Given the description of an element on the screen output the (x, y) to click on. 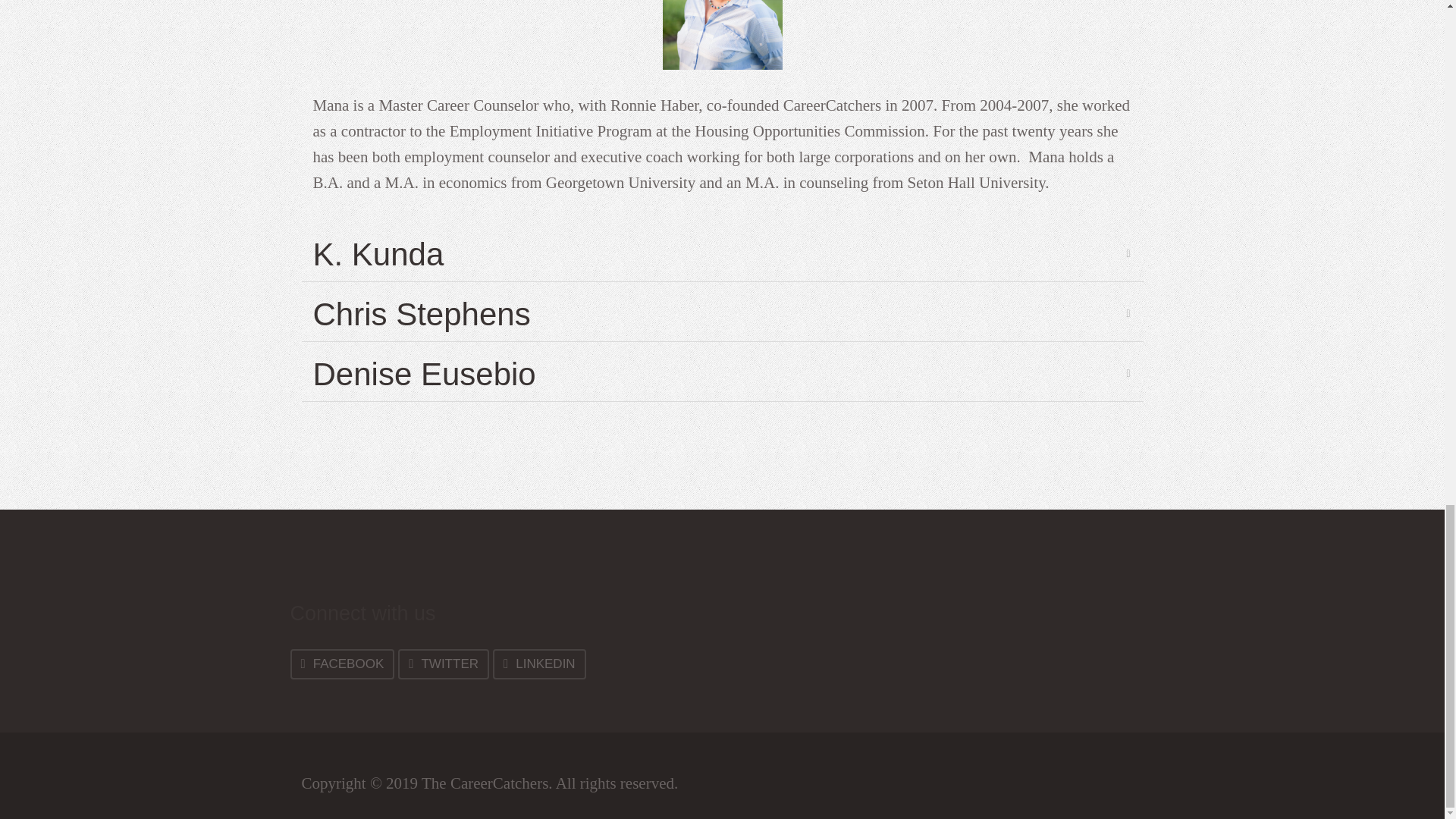
K. Kunda (721, 254)
LINKEDIN (539, 664)
TWITTER (443, 664)
FACEBOOK (341, 664)
Denise Eusebio (721, 374)
Chris Stephens (721, 314)
